Given the description of an element on the screen output the (x, y) to click on. 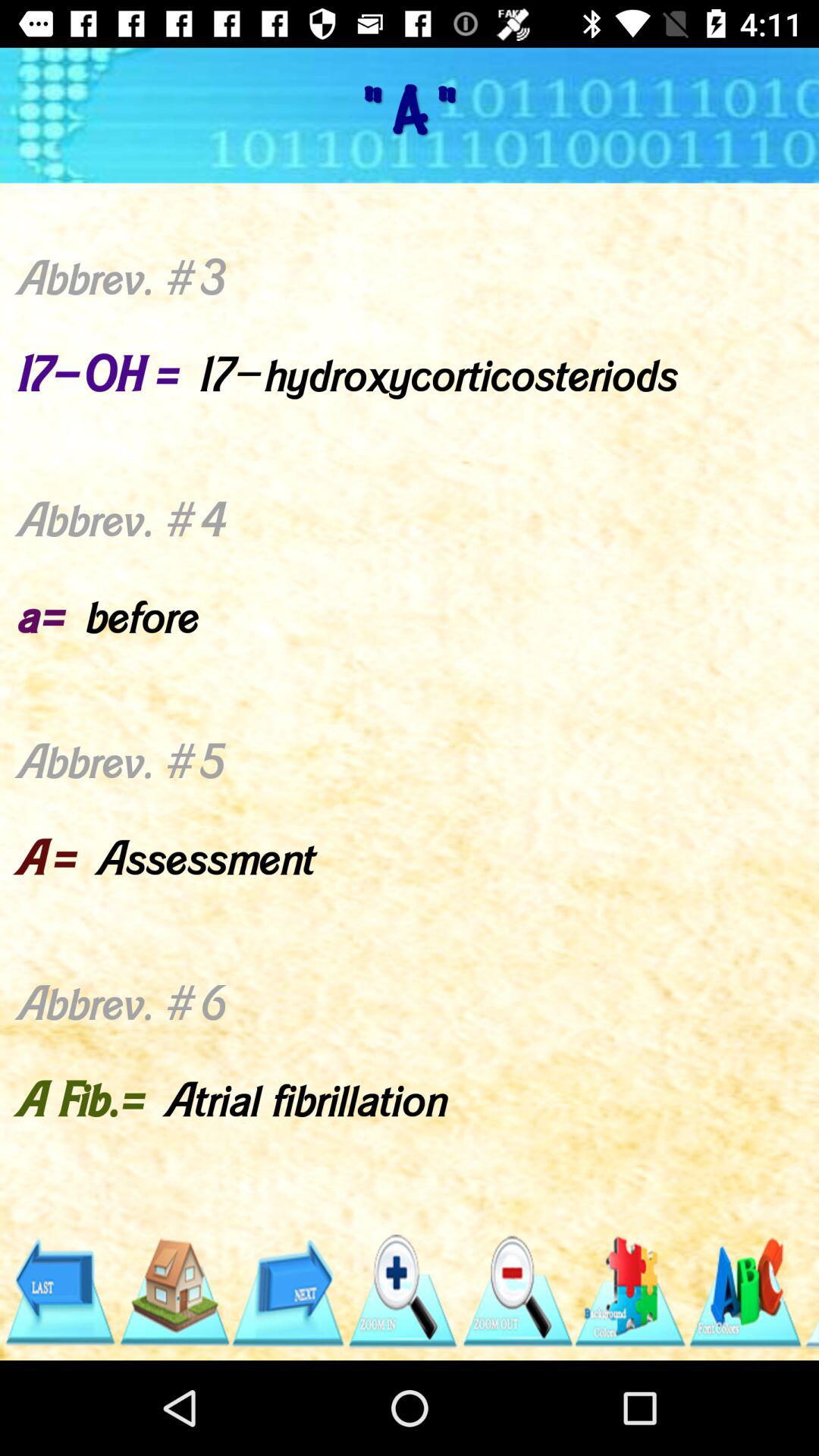
click home (173, 1291)
